Given the description of an element on the screen output the (x, y) to click on. 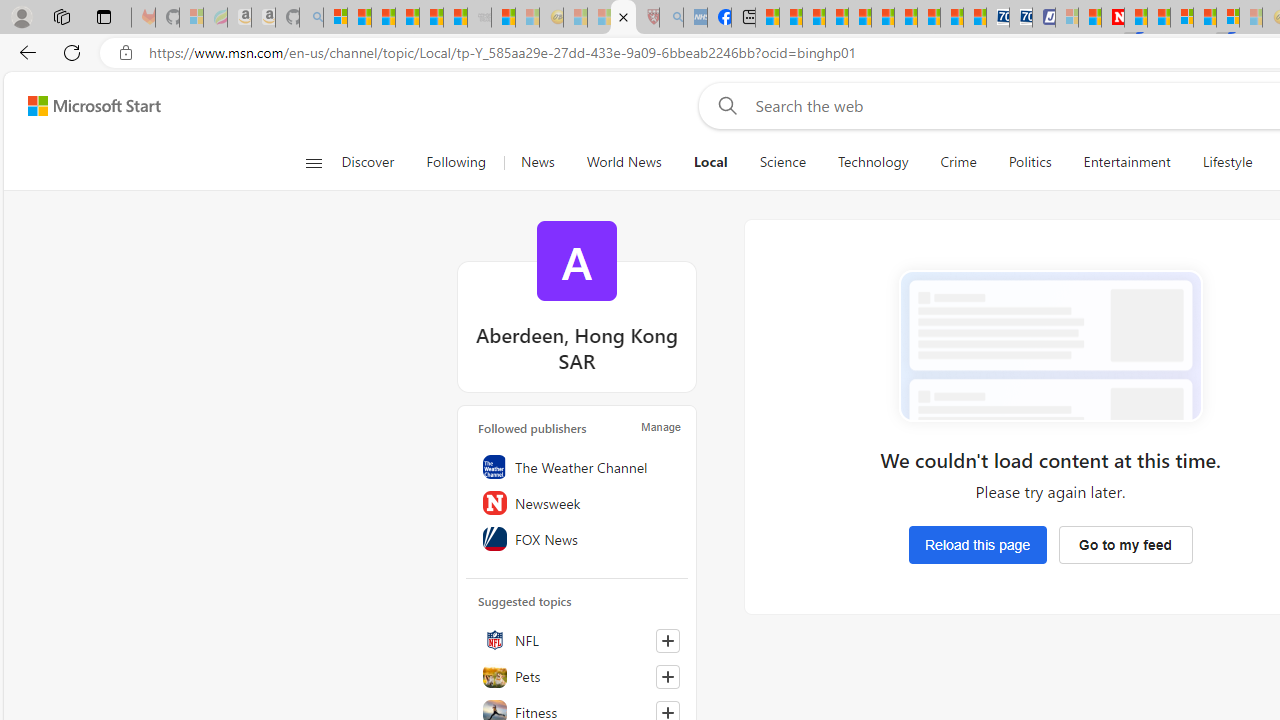
Combat Siege - Sleeping (479, 17)
NFL (577, 639)
The Weather Channel - MSN (383, 17)
